Given the description of an element on the screen output the (x, y) to click on. 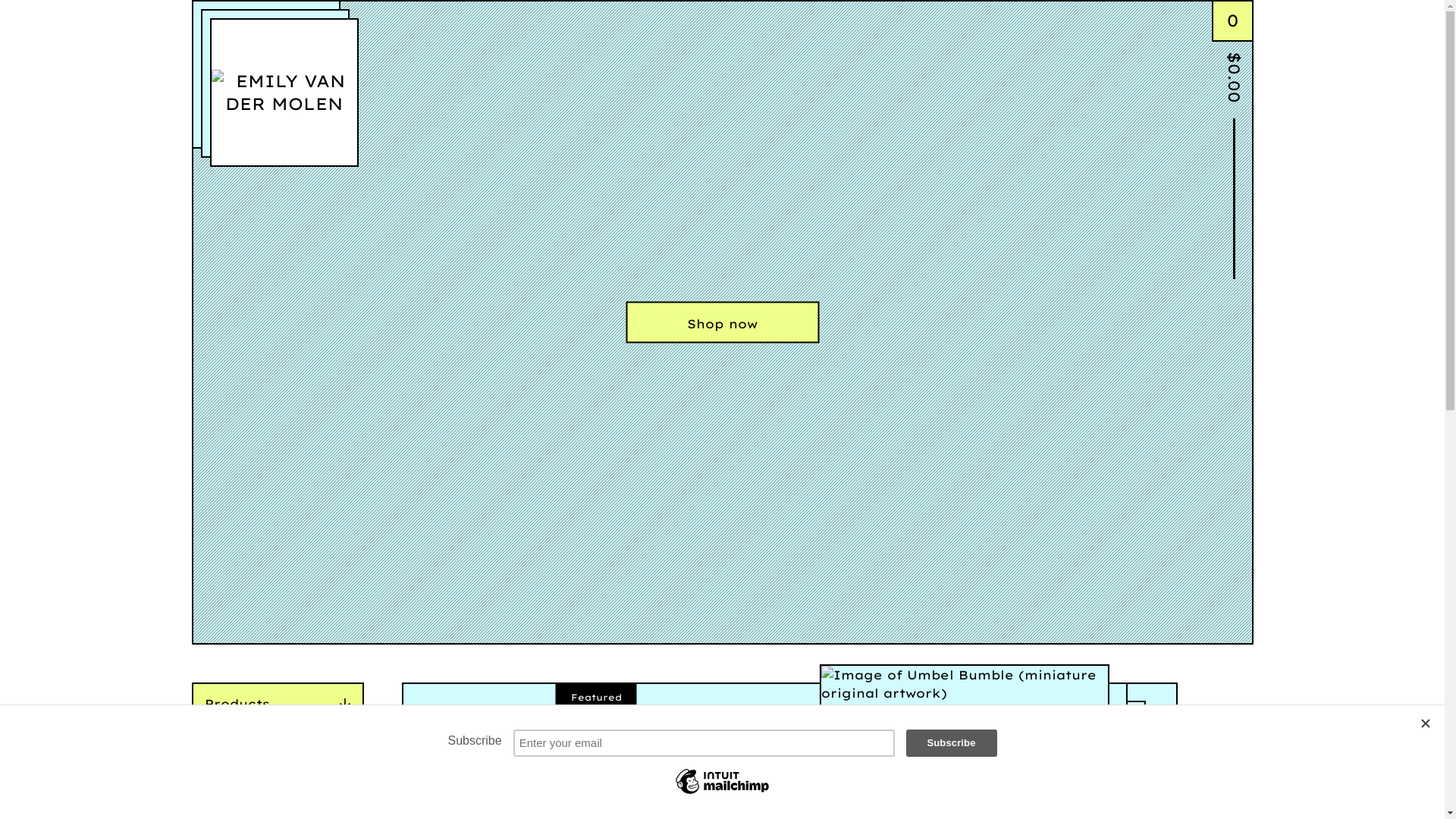
0
$
0.00 Element type: text (1232, 56)
EMILY VAN DER MOLEN Element type: hover (283, 92)
Shop now Element type: text (722, 322)
Search Element type: hover (210, 752)
Products Element type: text (277, 703)
